Given the description of an element on the screen output the (x, y) to click on. 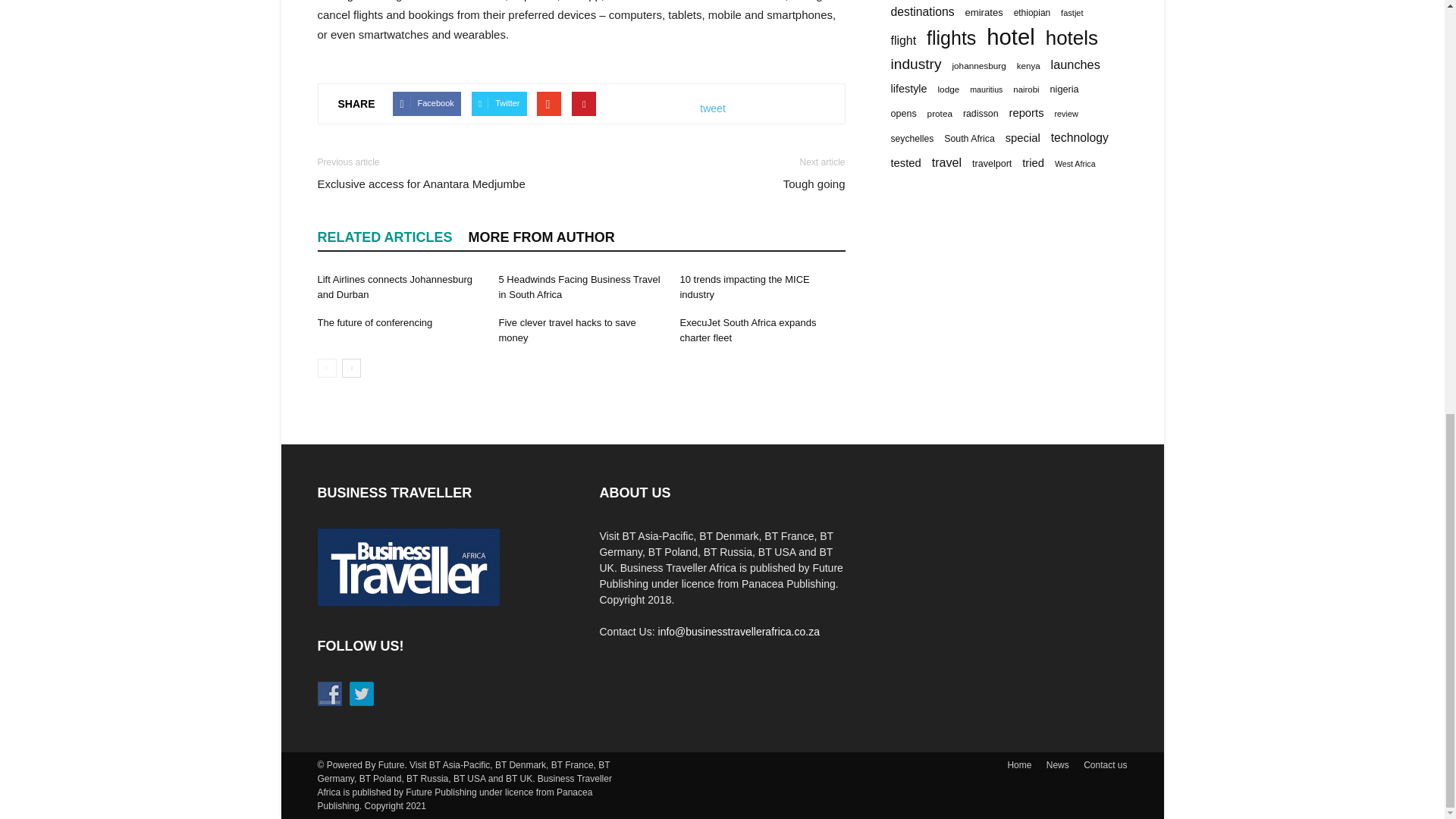
10 trends impacting the MICE industry (744, 286)
Lift Airlines connects Johannesburg and Durban (394, 286)
ExecuJet South Africa expands charter fleet (747, 329)
The future of conferencing (374, 322)
Five clever travel hacks to save money (565, 329)
5 Headwinds Facing Business Travel in South Africa (578, 286)
